Given the description of an element on the screen output the (x, y) to click on. 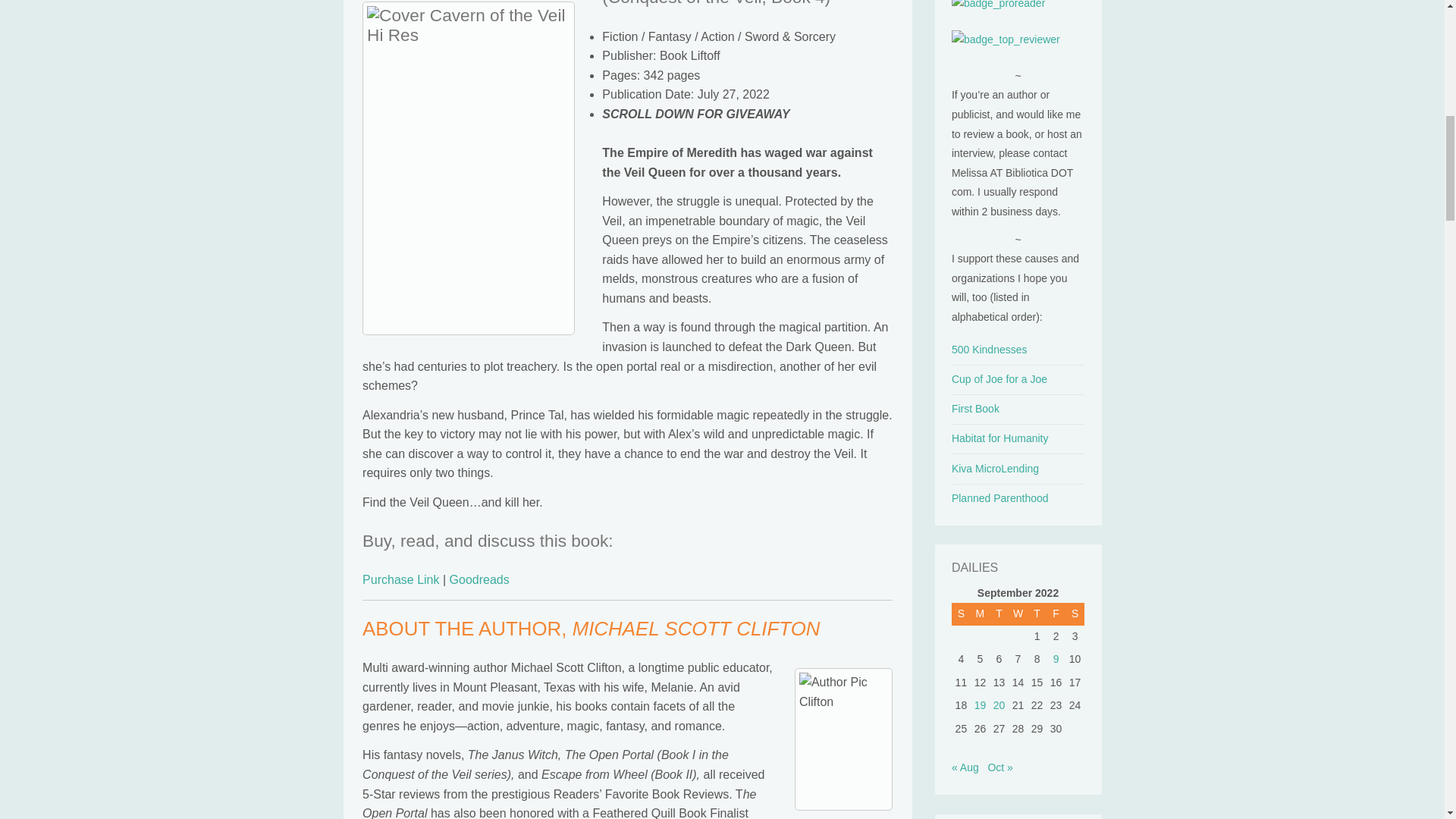
Goodreads (479, 579)
Purchase Link (400, 579)
